Given the description of an element on the screen output the (x, y) to click on. 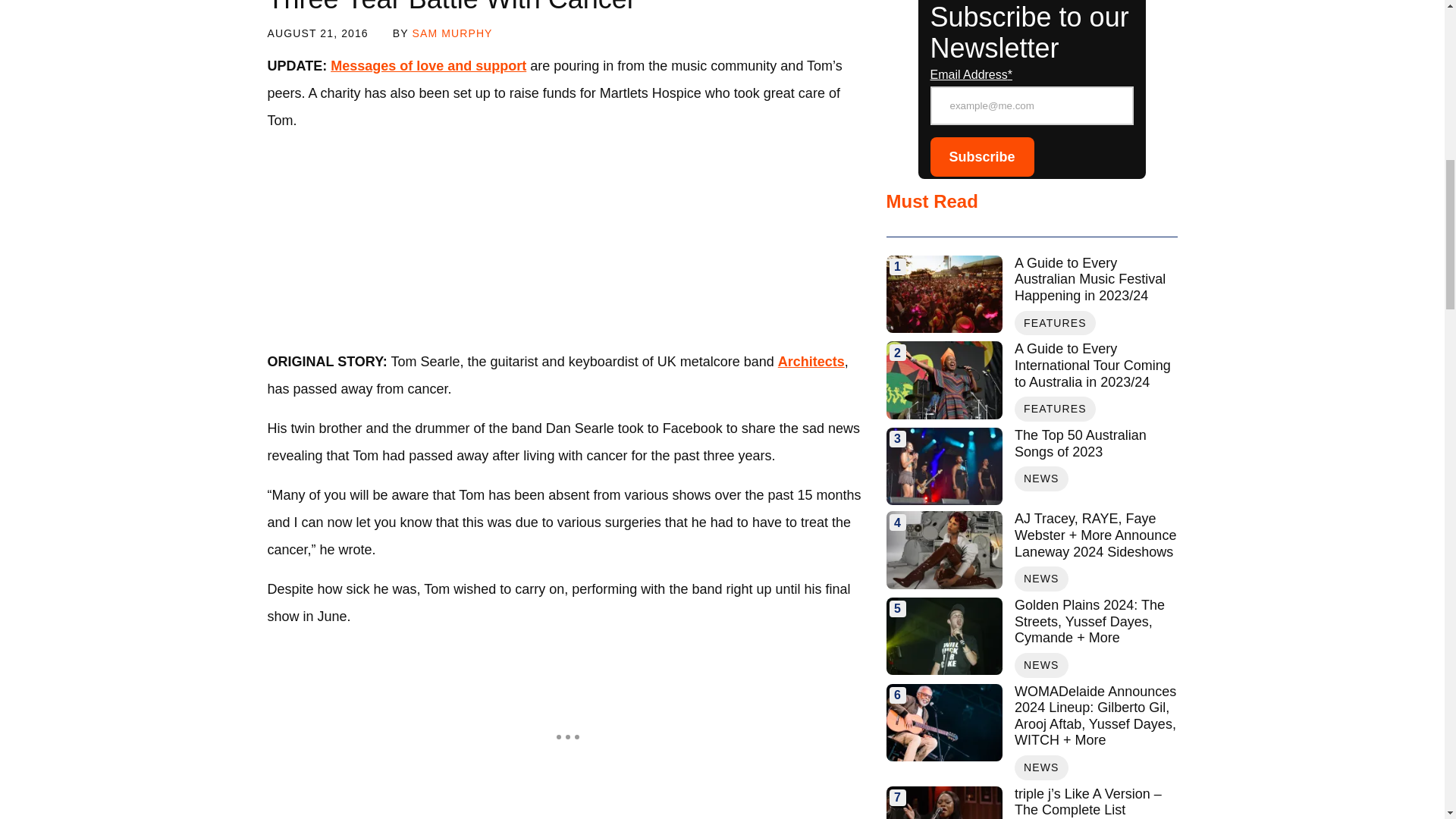
The Top 50 Australian Songs of 2023 (944, 466)
SAM MURPHY (452, 33)
The Top 50 Australian Songs of 2023 (1095, 443)
Architects (810, 361)
Messages of love and support (427, 65)
3rd party ad content (566, 240)
